Given the description of an element on the screen output the (x, y) to click on. 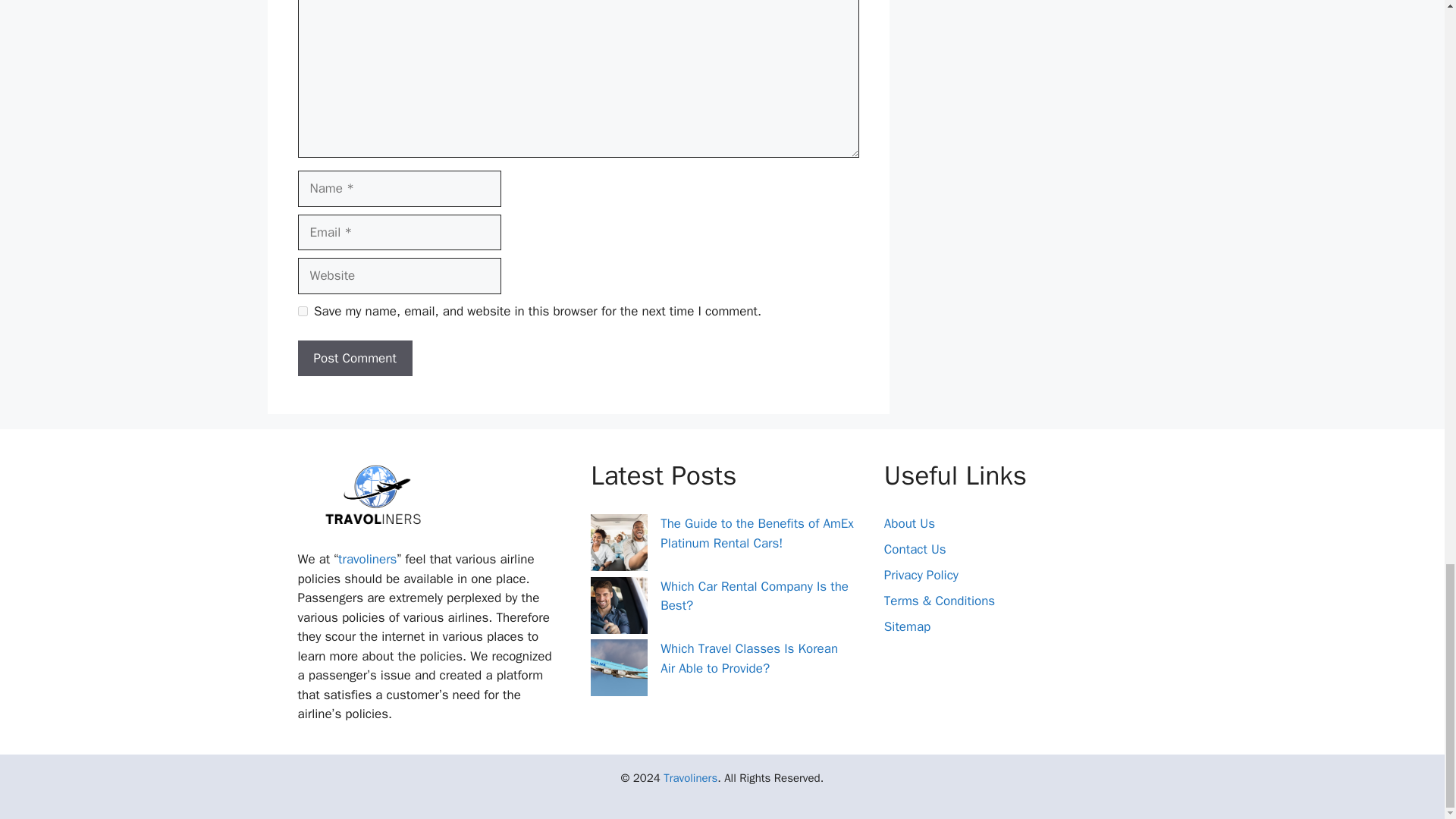
Contact Us (914, 549)
Post Comment (354, 358)
About Us (908, 523)
Sitemap (906, 626)
Which Car Rental Company Is the Best? (754, 596)
The Guide to the Benefits of AmEx Platinum Rental Cars! (757, 533)
Travoliners (690, 777)
yes (302, 311)
travoliners (366, 559)
Privacy Policy (920, 575)
Post Comment (354, 358)
Which Travel Classes Is Korean Air Able to Provide? (749, 658)
